Given the description of an element on the screen output the (x, y) to click on. 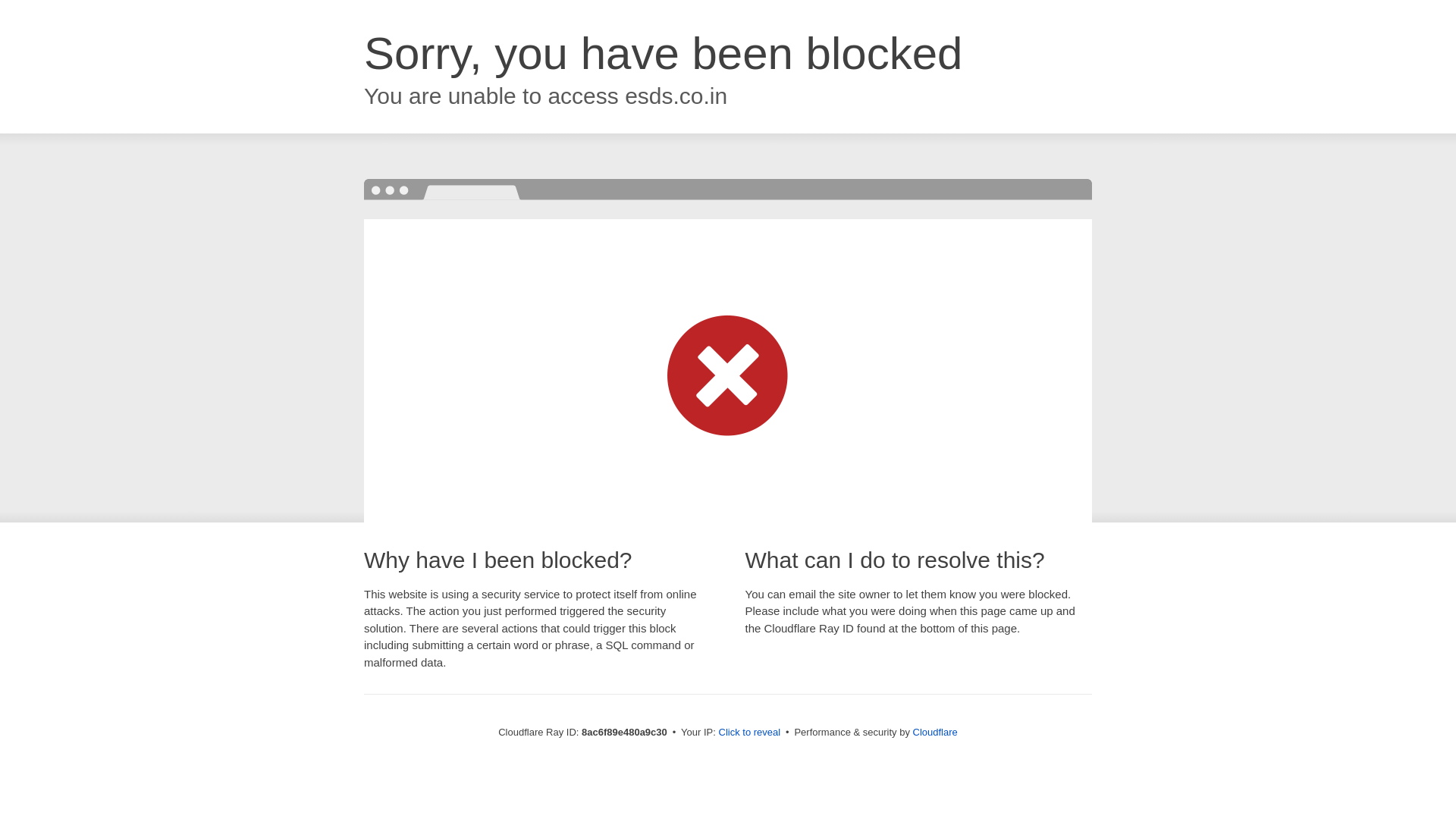
Cloudflare (935, 731)
Click to reveal (749, 732)
